Given the description of an element on the screen output the (x, y) to click on. 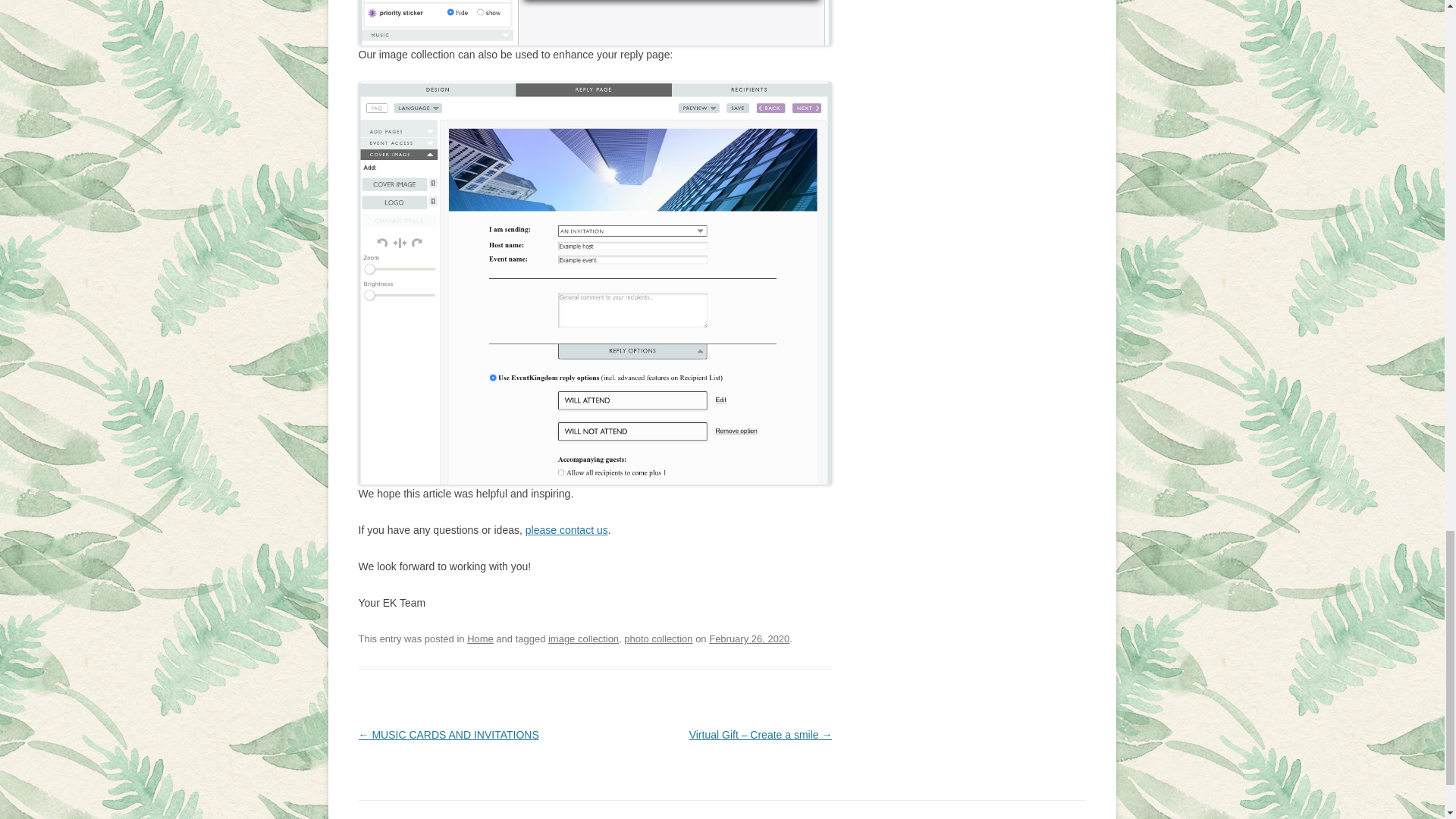
1:58 PM (749, 638)
image collection (583, 638)
Home (480, 638)
photo collection (658, 638)
please contact us (566, 530)
February 26, 2020 (749, 638)
